Given the description of an element on the screen output the (x, y) to click on. 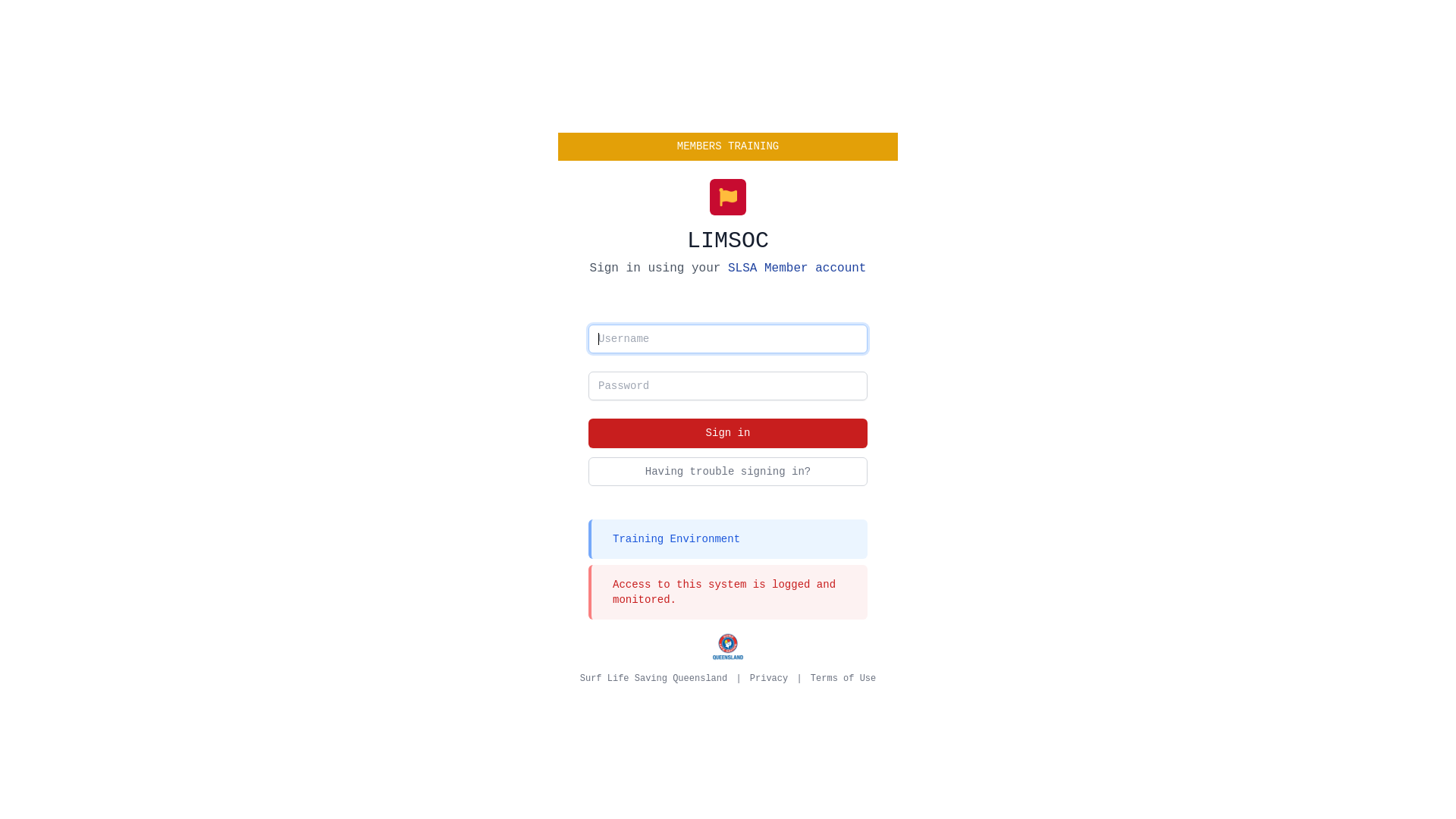
Surf Life Saving Queensland Element type: text (653, 678)
Terms of Use Element type: text (842, 678)
Having trouble signing in? Element type: text (727, 471)
Sign in Element type: text (727, 433)
Privacy Element type: text (768, 678)
SLSA Member account Element type: text (797, 268)
